Given the description of an element on the screen output the (x, y) to click on. 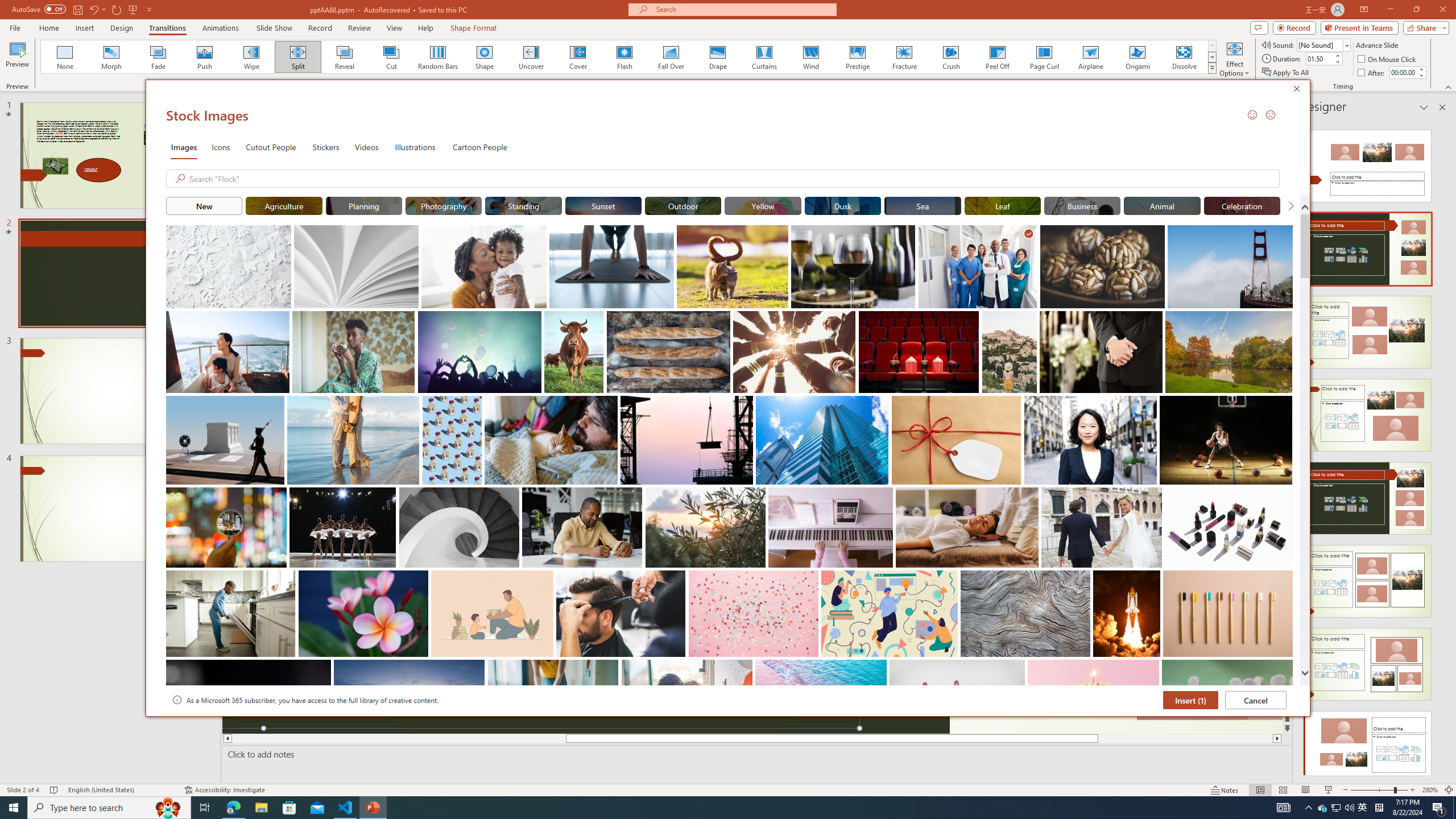
Zoom Out (1372, 790)
Record (320, 28)
AutomationID: 4105 (1283, 807)
Apply To All (1286, 72)
Accessibility Checker Accessibility: Investigate (224, 790)
More (1420, 69)
Curtains (764, 56)
Wipe (251, 56)
Slide Show (1328, 790)
"Standing" Stock Images. (523, 205)
